Given the description of an element on the screen output the (x, y) to click on. 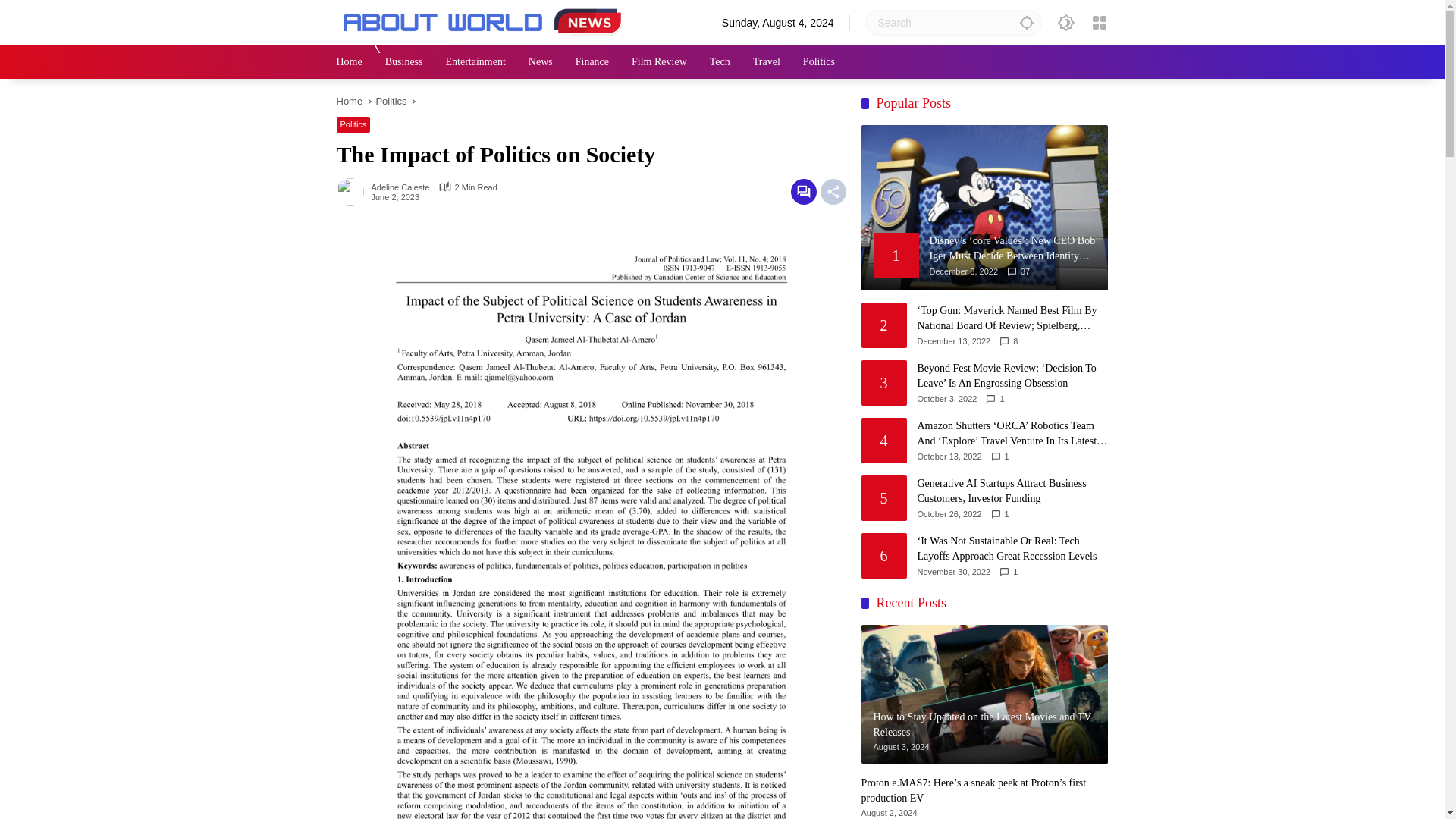
View all posts in Politics (353, 124)
Entertainment (475, 61)
Politics (818, 61)
Film Review (659, 61)
Home (349, 101)
Permalink to: Adeline Caleste (353, 190)
Business (404, 61)
Finance (591, 61)
Politics (390, 101)
Adeline Caleste (400, 187)
